Given the description of an element on the screen output the (x, y) to click on. 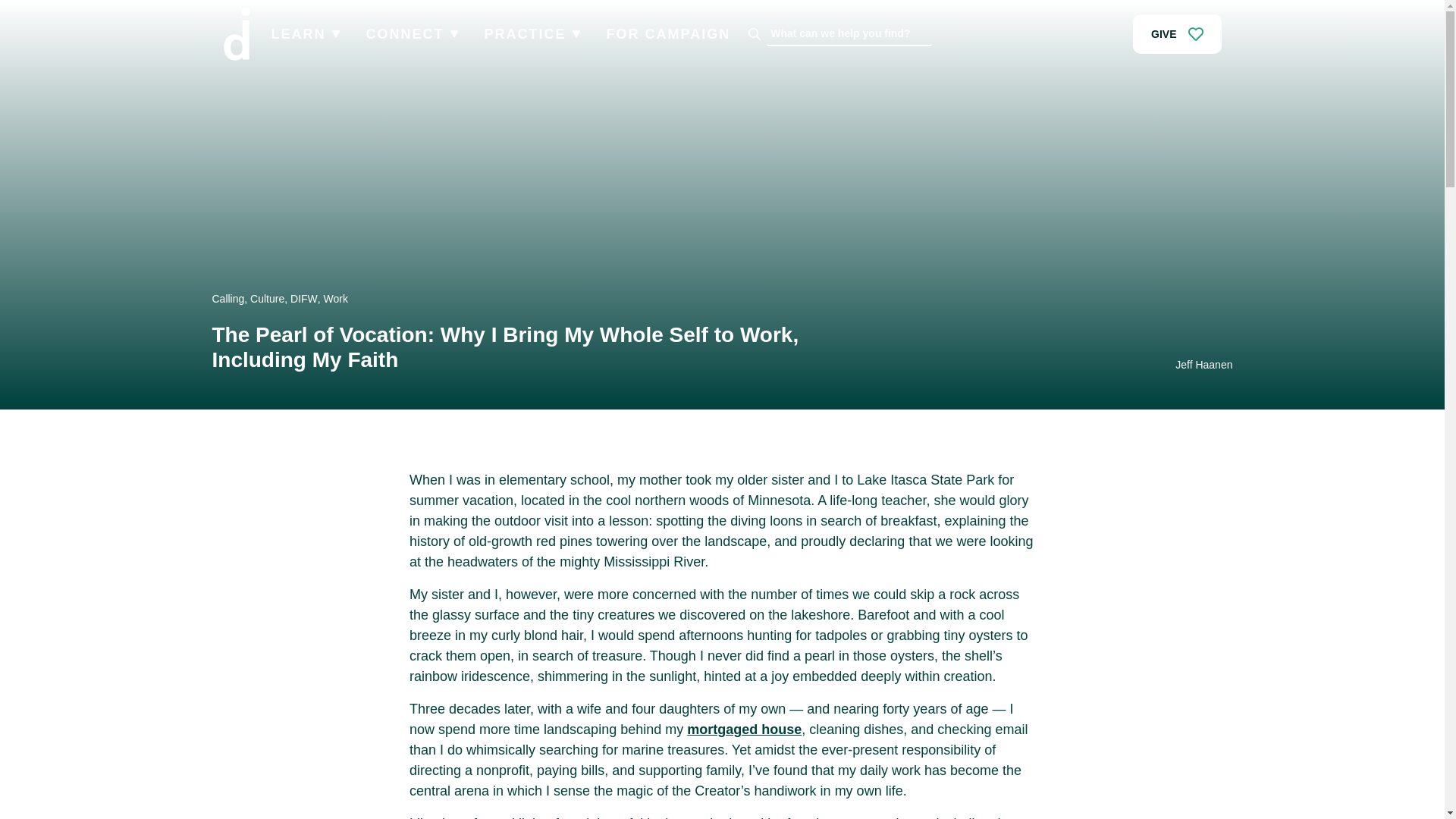
PRACTICE (524, 33)
LEARN (298, 33)
mortgaged house (744, 729)
FOR CAMPAIGN (668, 33)
CONNECT (404, 33)
GIVE (1176, 34)
